Given the description of an element on the screen output the (x, y) to click on. 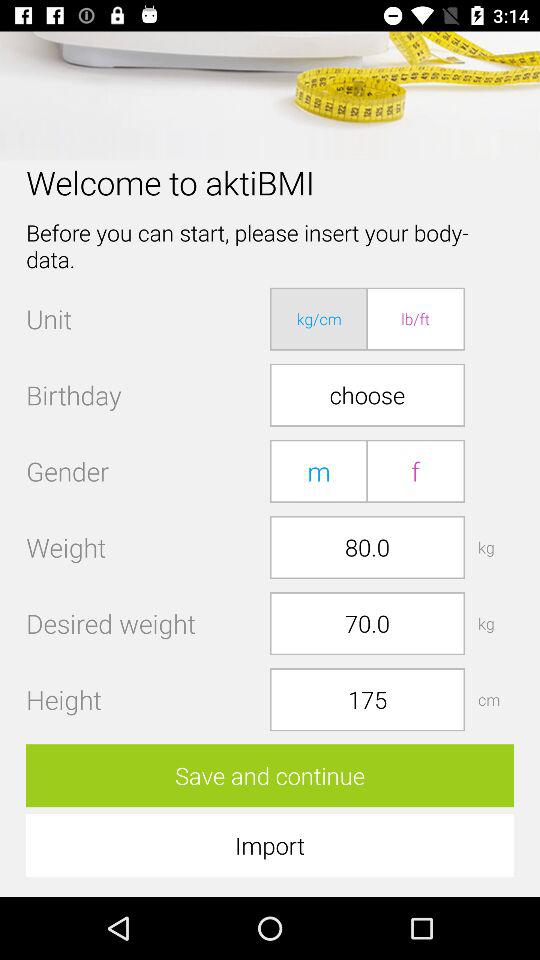
turn on button above the 80.0 button (415, 470)
